Given the description of an element on the screen output the (x, y) to click on. 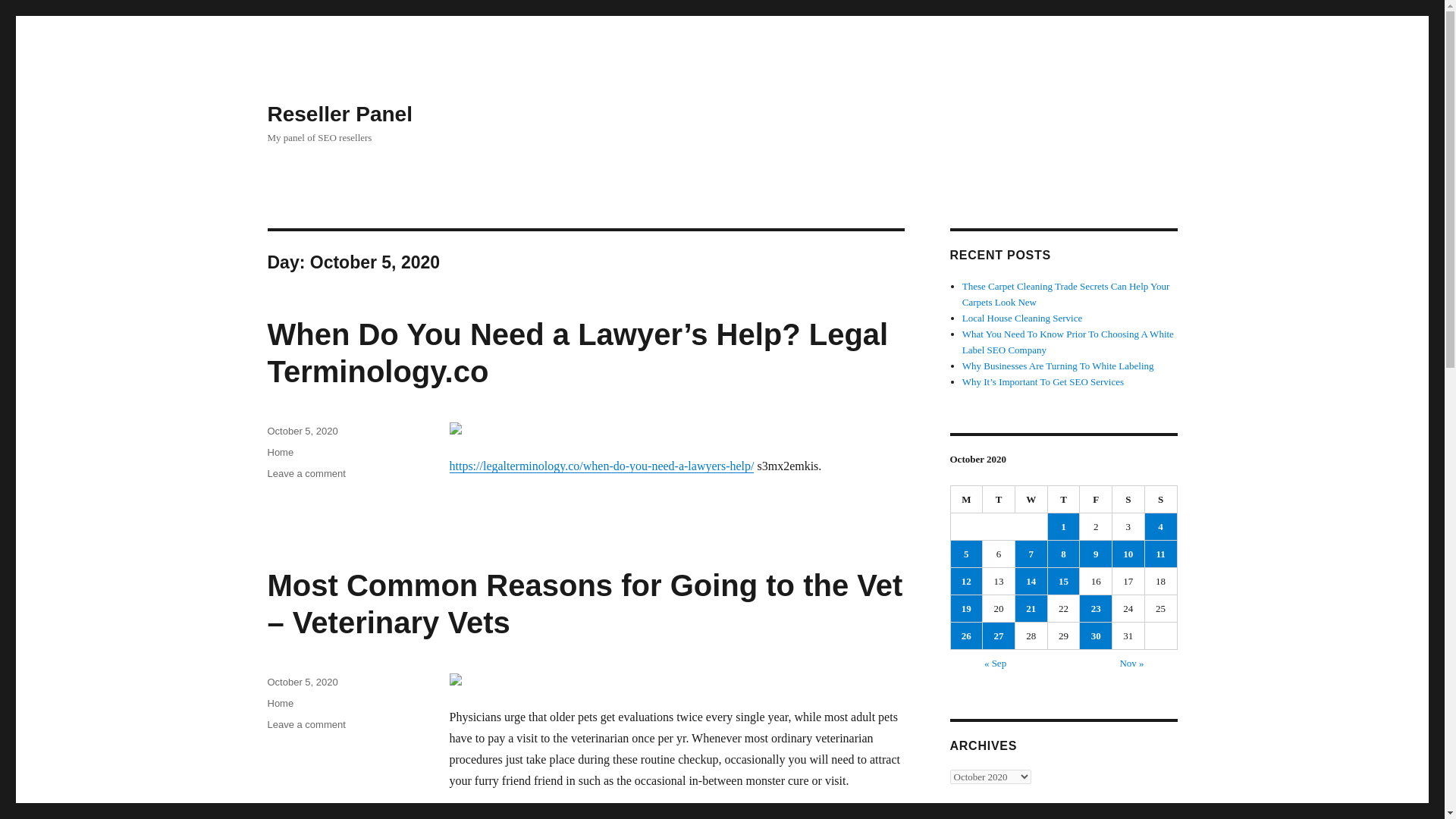
Tuesday (998, 499)
October 5, 2020 (301, 430)
Why Businesses Are Turning To White Labeling (1058, 365)
8 (1064, 553)
Visits: Locating Shared (567, 817)
Monday (967, 499)
10 (1128, 553)
1 (1064, 526)
Local House Cleaning Service (1021, 317)
12 (966, 581)
